Given the description of an element on the screen output the (x, y) to click on. 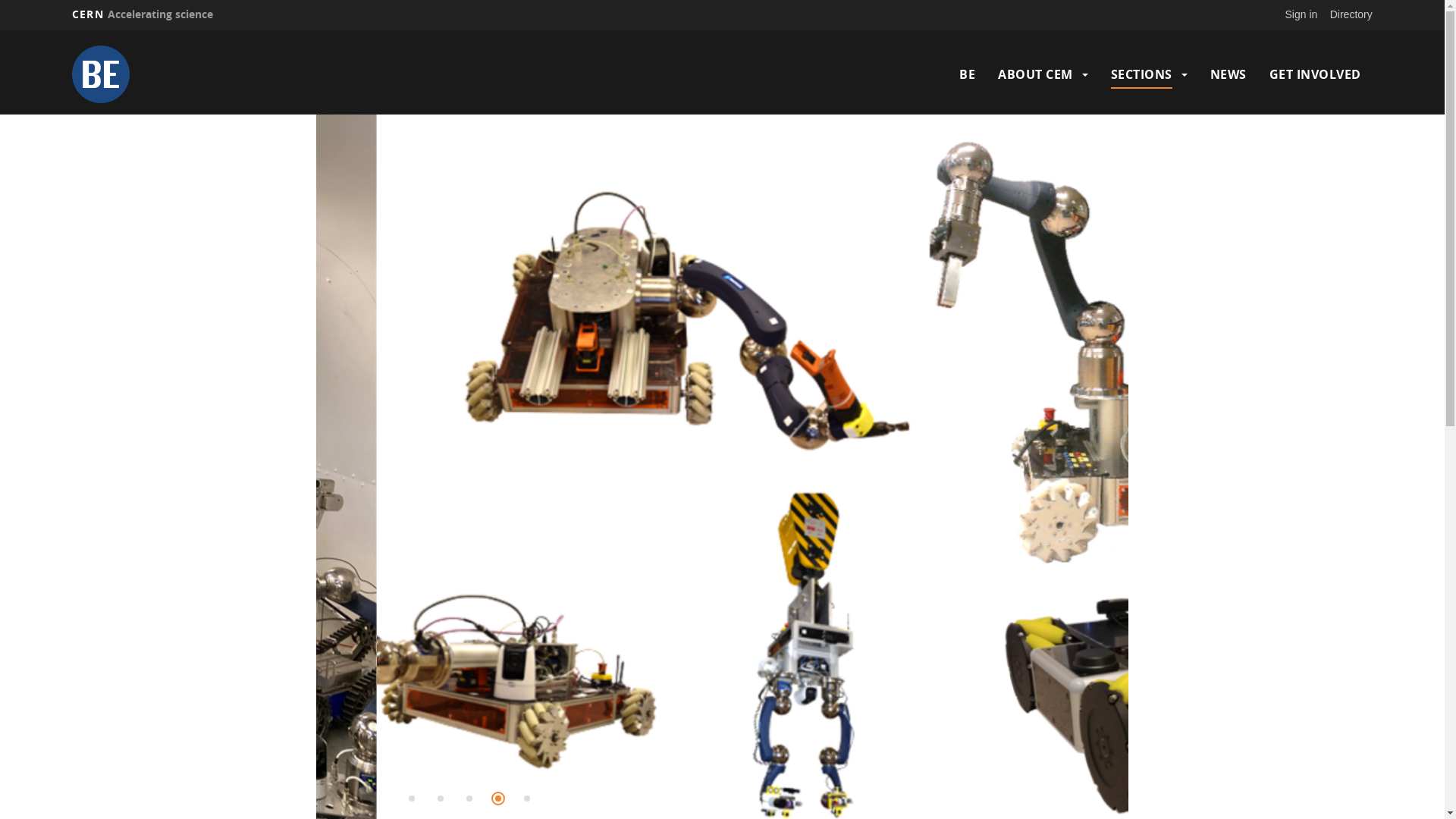
SECTIONS Element type: text (1141, 74)
Sign in Element type: text (1301, 14)
NEWS Element type: text (1228, 74)
Directory Element type: text (1351, 14)
CERN Accelerating science Element type: text (142, 14)
Home Element type: hover (230, 74)
BE Element type: text (967, 74)
Skip to main content Element type: text (0, 30)
GET INVOLVED Element type: text (1315, 74)
ABOUT CEM Element type: text (1035, 74)
